Given the description of an element on the screen output the (x, y) to click on. 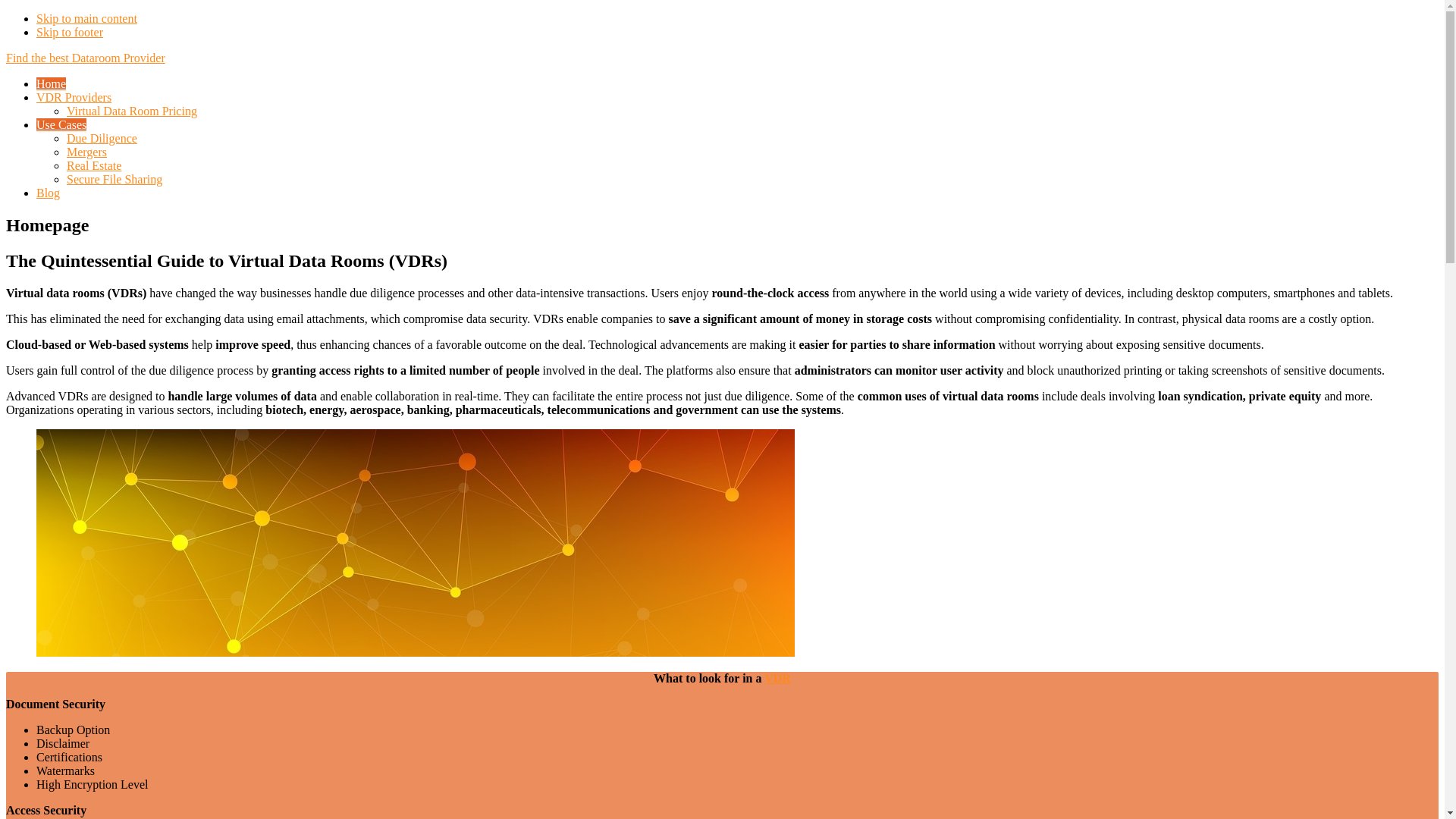
Skip to main content Element type: text (86, 18)
VDR Providers Element type: text (73, 97)
Mergers Element type: text (86, 151)
Find the best Dataroom Provider Element type: text (85, 57)
Skip to footer Element type: text (69, 31)
Due Diligence Element type: text (101, 137)
Real Estate Element type: text (93, 165)
netzwerk-dataroom Element type: hover (415, 542)
Secure File Sharing Element type: text (114, 178)
Virtual Data Room Pricing Element type: text (131, 110)
Home Element type: text (50, 83)
VDR Element type: text (777, 677)
Blog Element type: text (47, 192)
Use Cases Element type: text (61, 124)
